Given the description of an element on the screen output the (x, y) to click on. 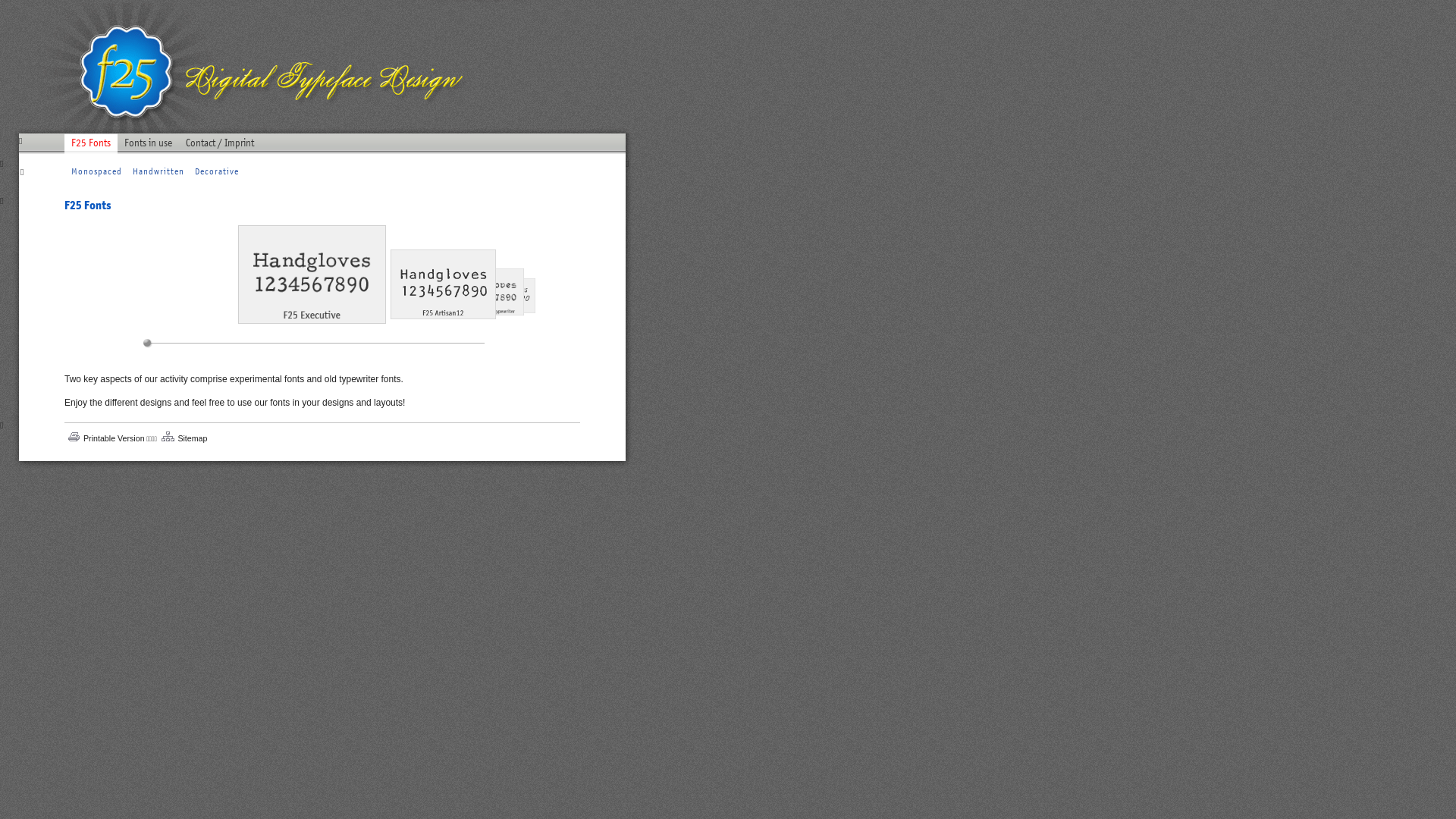
Decorative Element type: text (216, 170)
F25 Fonts Element type: text (90, 148)
Fonts in use Element type: text (147, 148)
Sitemap Element type: text (192, 437)
Monospaced Element type: text (96, 170)
Printable Version Element type: text (113, 437)
Contact / Imprint Element type: text (219, 148)
Handwritten Element type: text (158, 170)
